Given the description of an element on the screen output the (x, y) to click on. 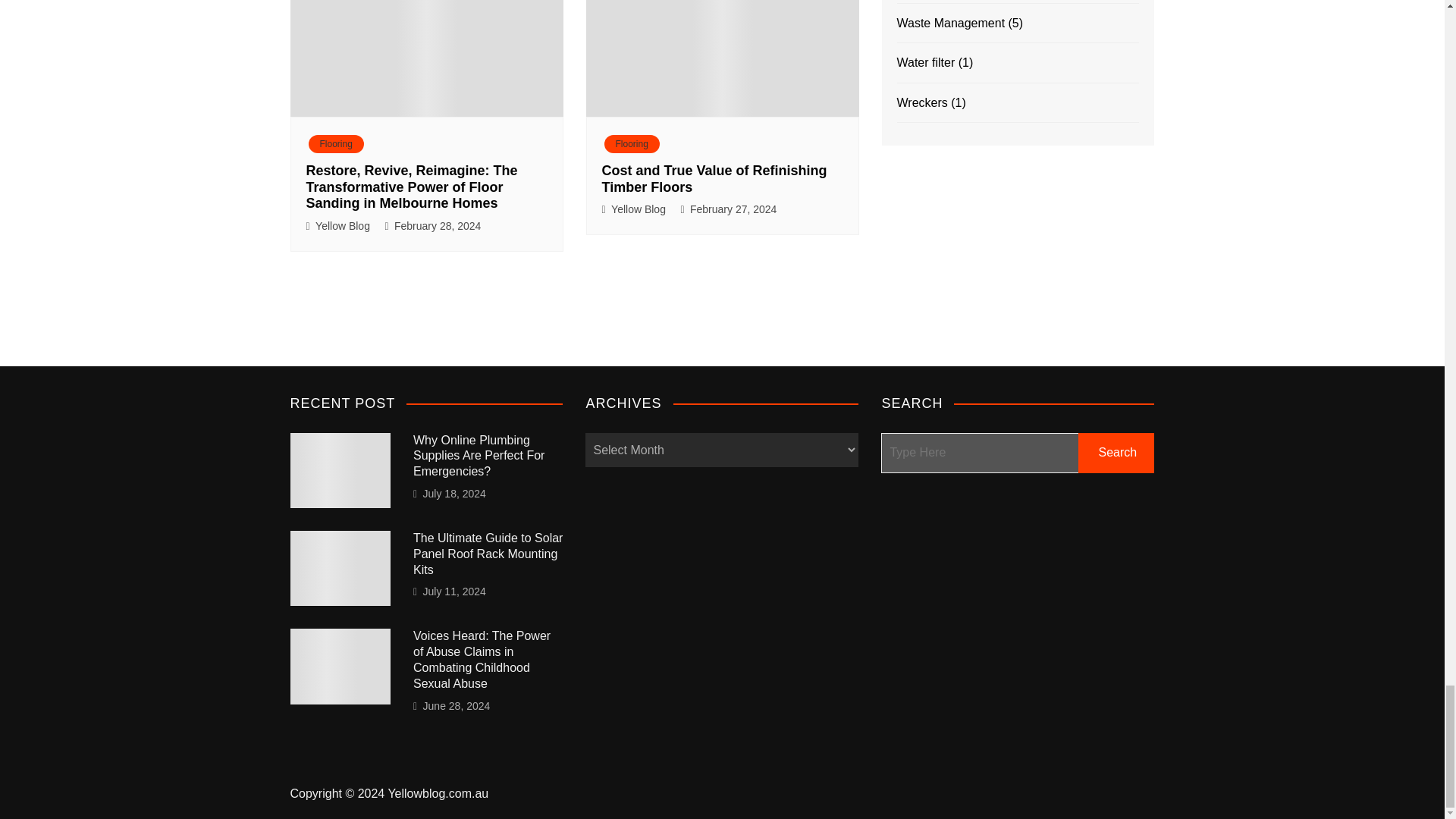
Search (1116, 453)
